Given the description of an element on the screen output the (x, y) to click on. 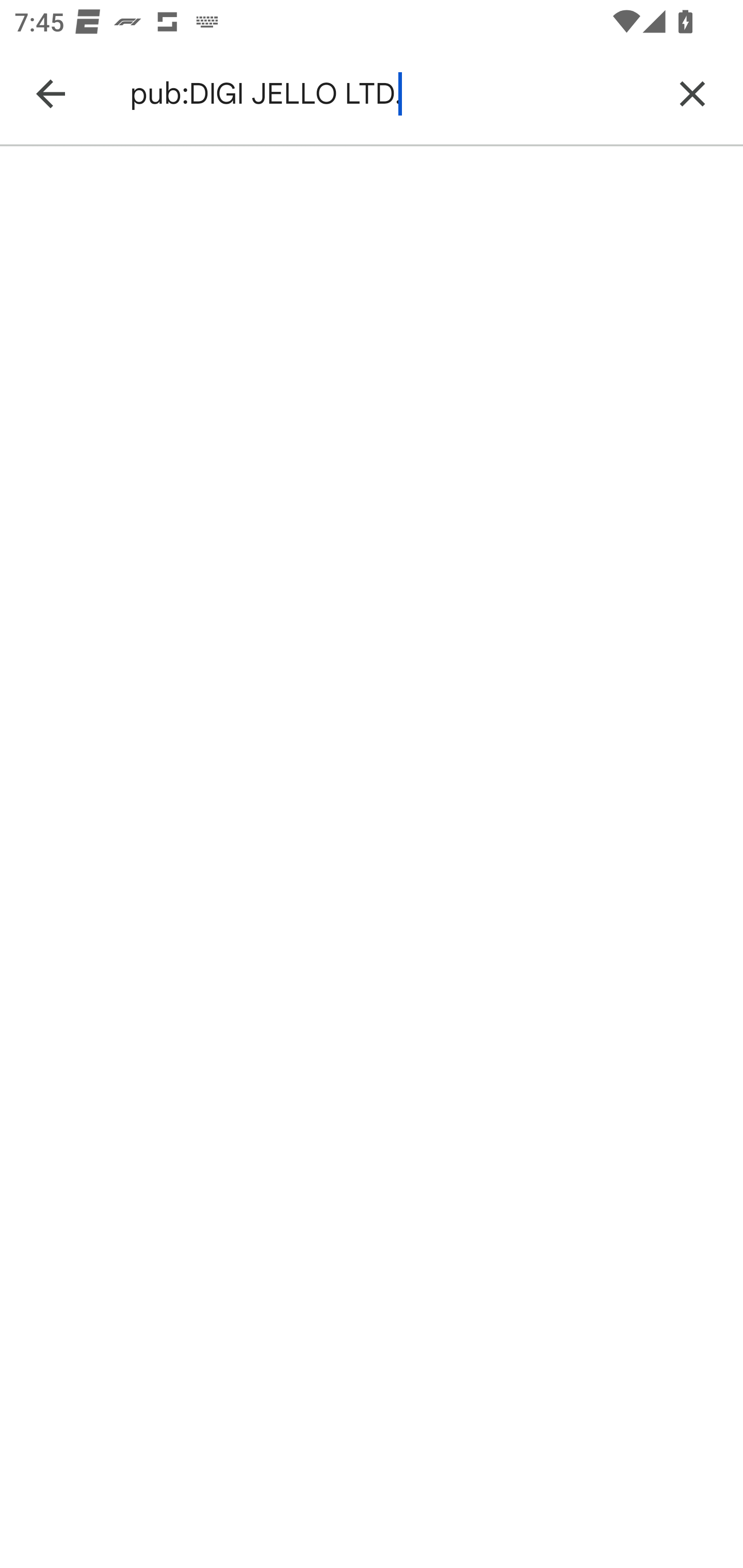
Navigate up (50, 93)
pub:DIGI JELLO LTD. (389, 93)
Clear (692, 93)
